Given the description of an element on the screen output the (x, y) to click on. 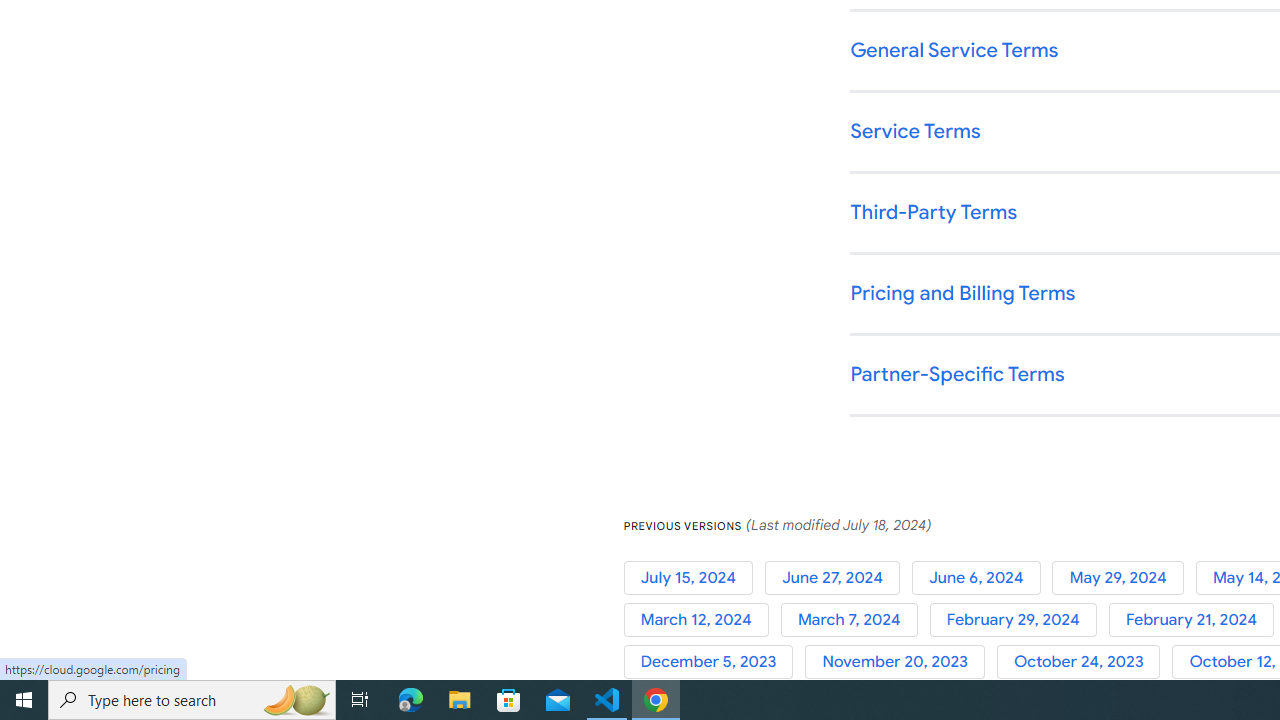
March 12, 2024 (701, 620)
May 29, 2024 (1123, 577)
March 7, 2024 (854, 620)
December 5, 2023 (714, 661)
November 20, 2023 (901, 661)
February 29, 2024 (1018, 620)
June 6, 2024 (982, 577)
July 15, 2024 (694, 577)
June 27, 2024 (837, 577)
October 24, 2023 (1083, 661)
